Given the description of an element on the screen output the (x, y) to click on. 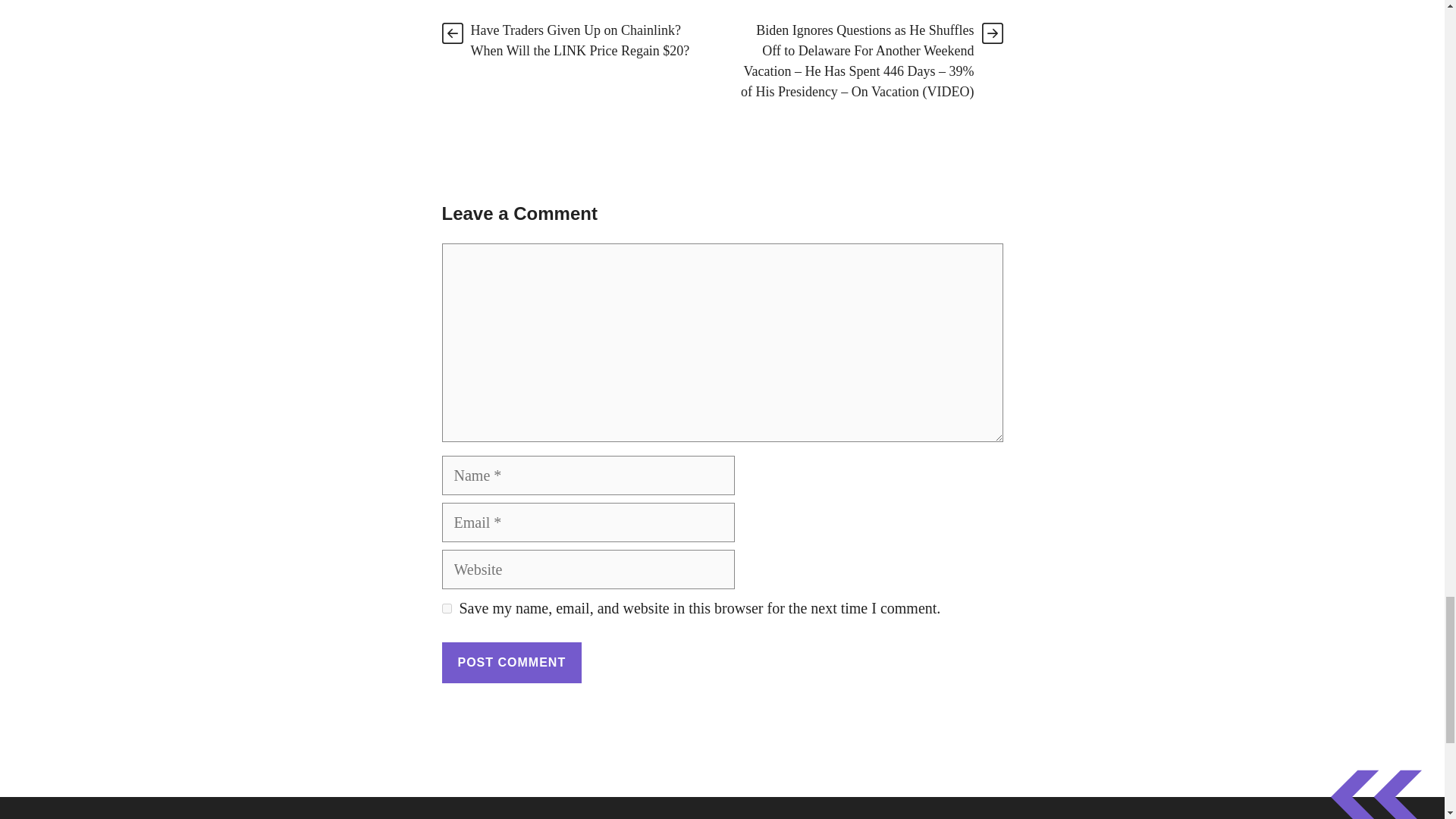
Post Comment (510, 662)
Post Comment (510, 662)
yes (446, 608)
